Given the description of an element on the screen output the (x, y) to click on. 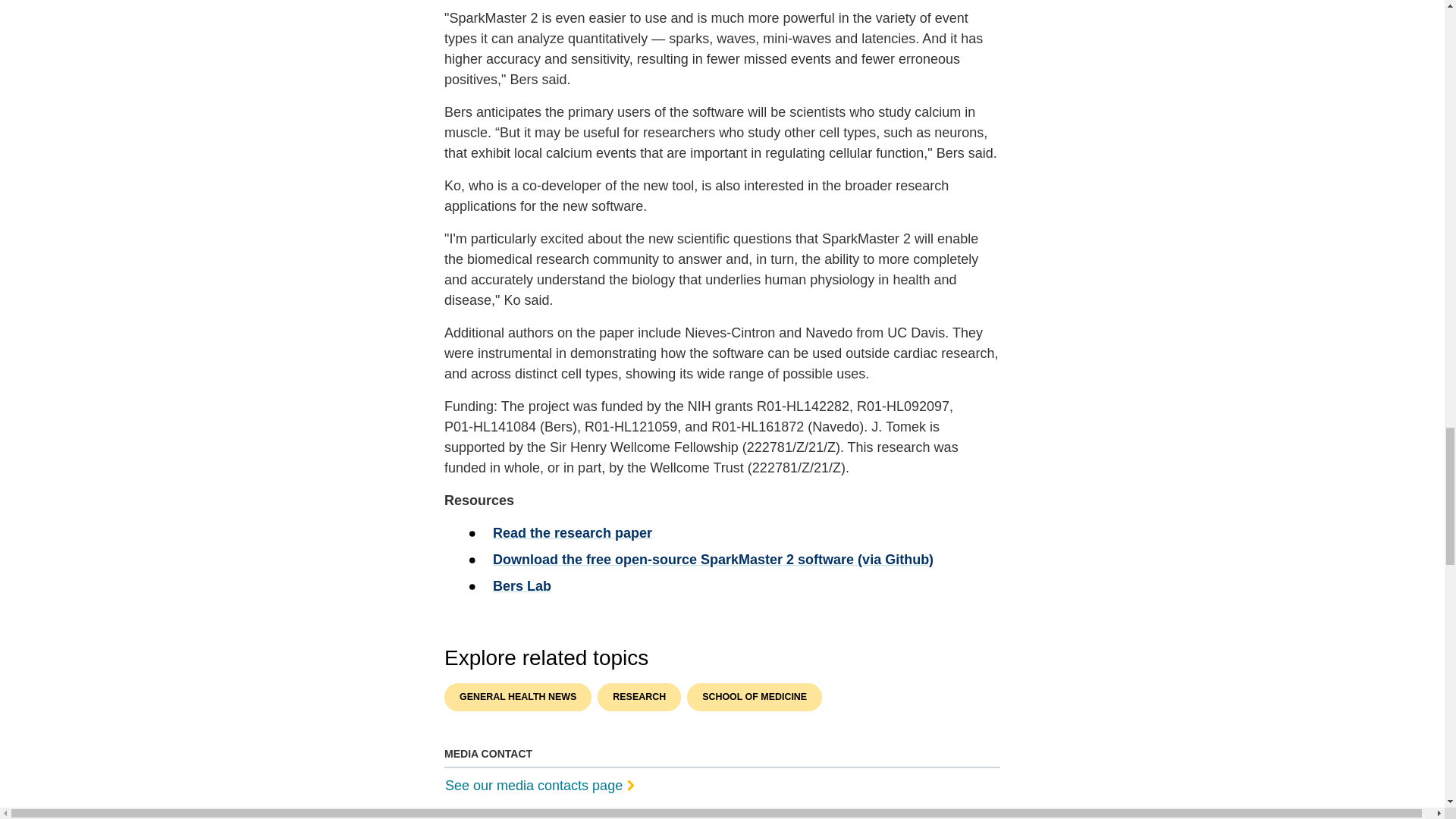
News Contacts (719, 783)
